Given the description of an element on the screen output the (x, y) to click on. 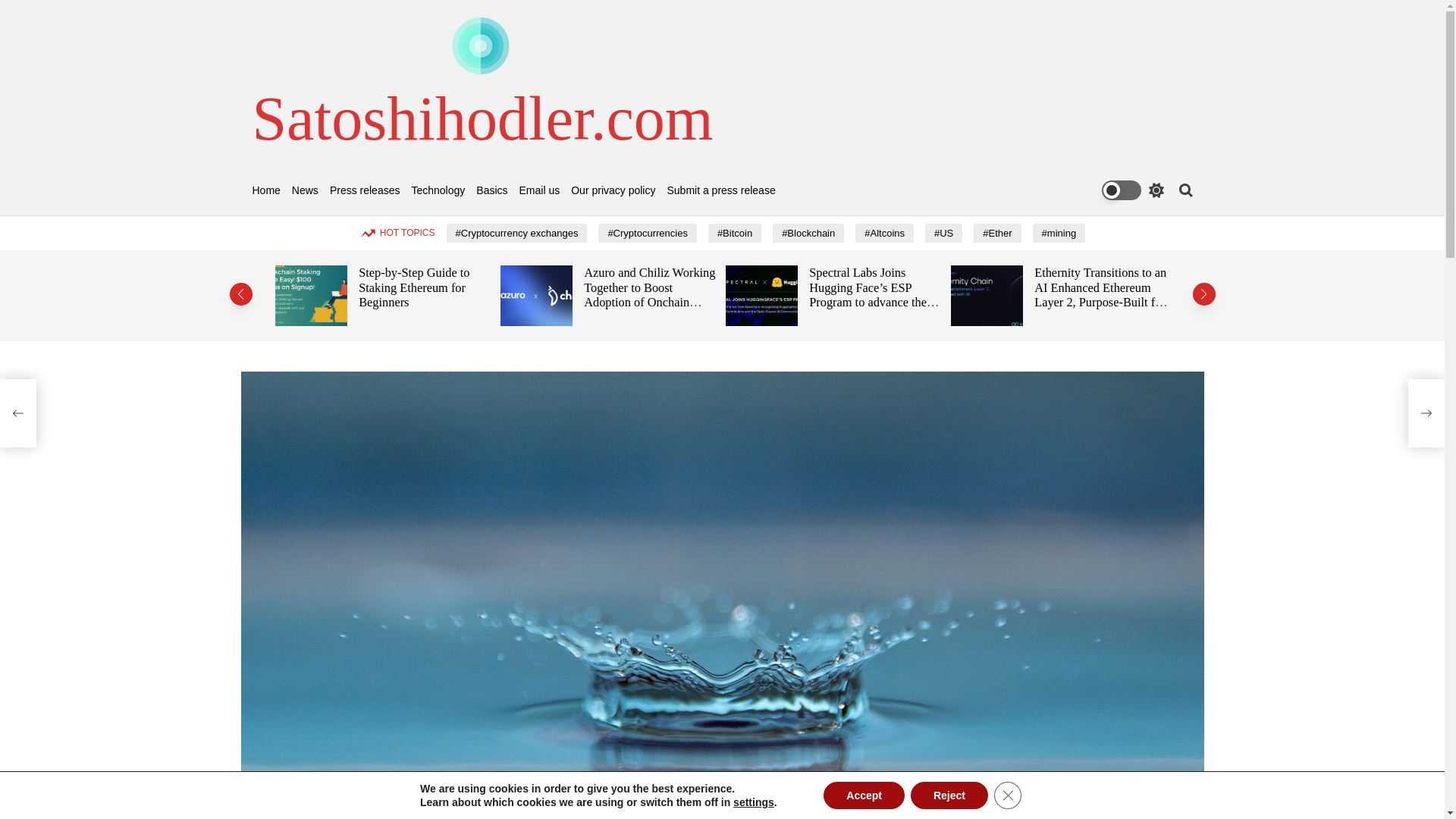
Satoshihodler.com (482, 118)
Email us (539, 190)
Technology (437, 190)
Search (1184, 190)
Basics (491, 190)
Press releases (365, 190)
Home (265, 190)
News (305, 190)
Switch color mode (1131, 189)
Our privacy policy (612, 190)
Submit a press release (720, 190)
Step-by-Step Guide to Staking Ethereum for Beginners (413, 287)
